Given the description of an element on the screen output the (x, y) to click on. 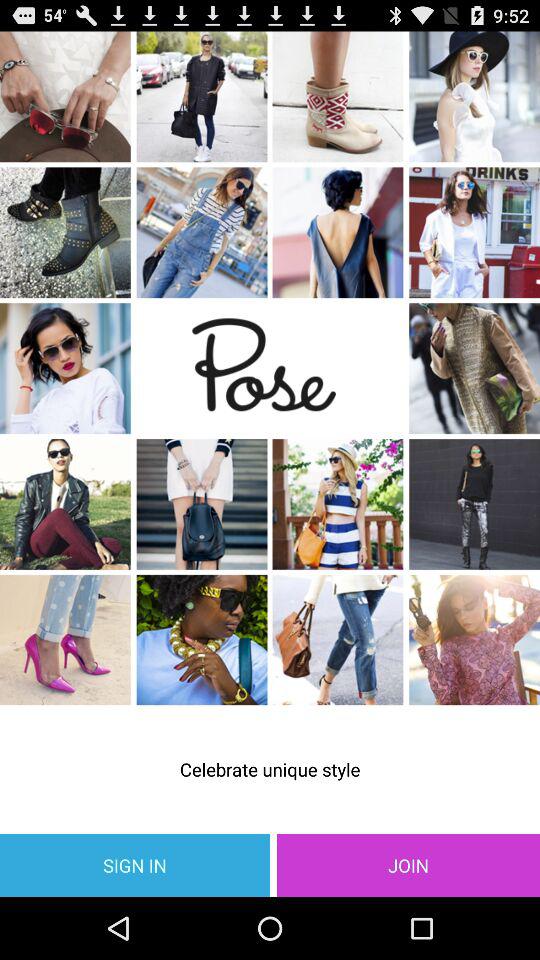
open the button next to the sign in (408, 864)
